Given the description of an element on the screen output the (x, y) to click on. 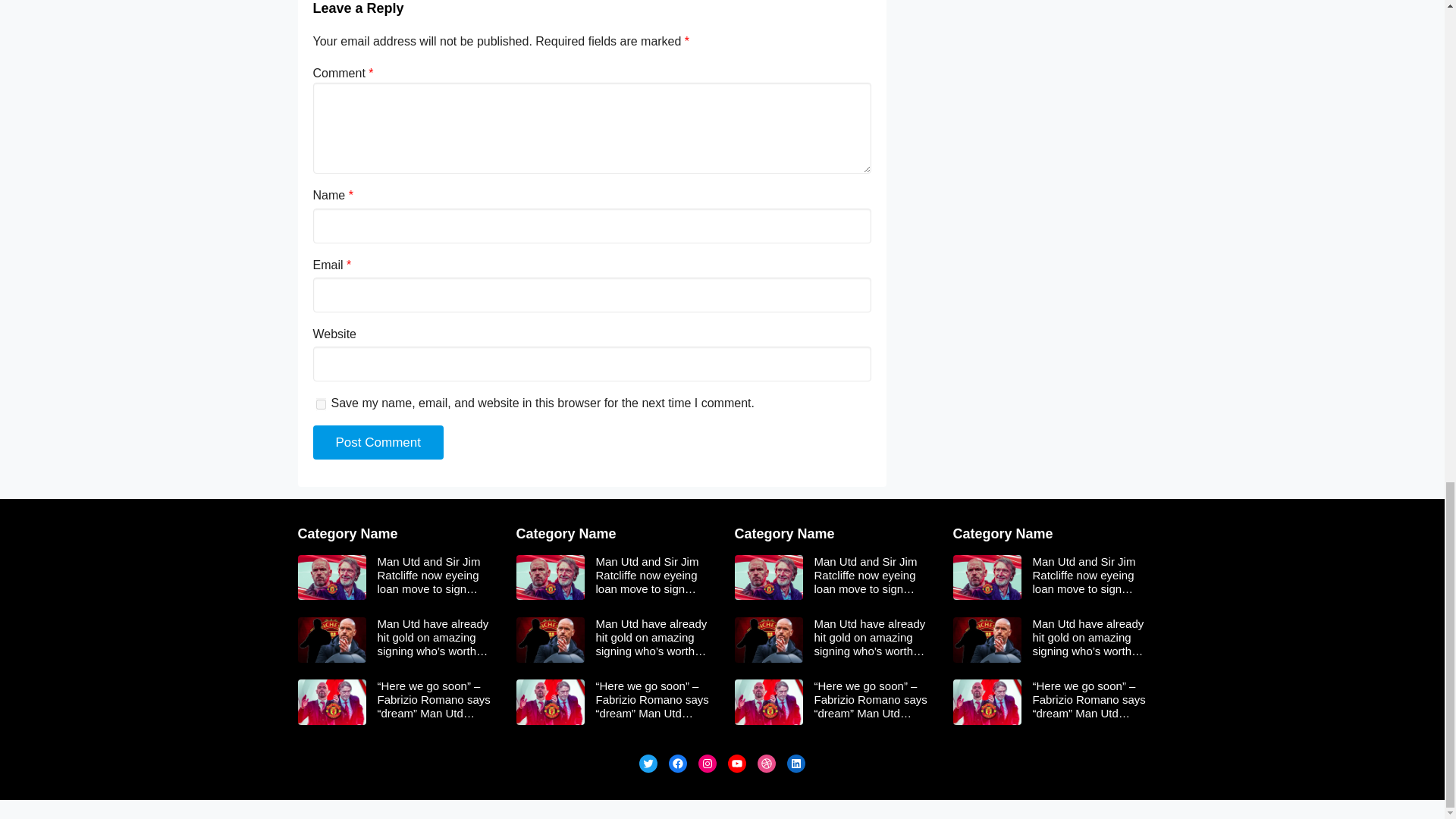
Category Name (565, 533)
Facebook (677, 763)
Post Comment (377, 442)
Category Name (347, 533)
Category Name (783, 533)
Category Name (1002, 533)
Instagram (707, 763)
Twitter (648, 763)
Post Comment (377, 442)
